Given the description of an element on the screen output the (x, y) to click on. 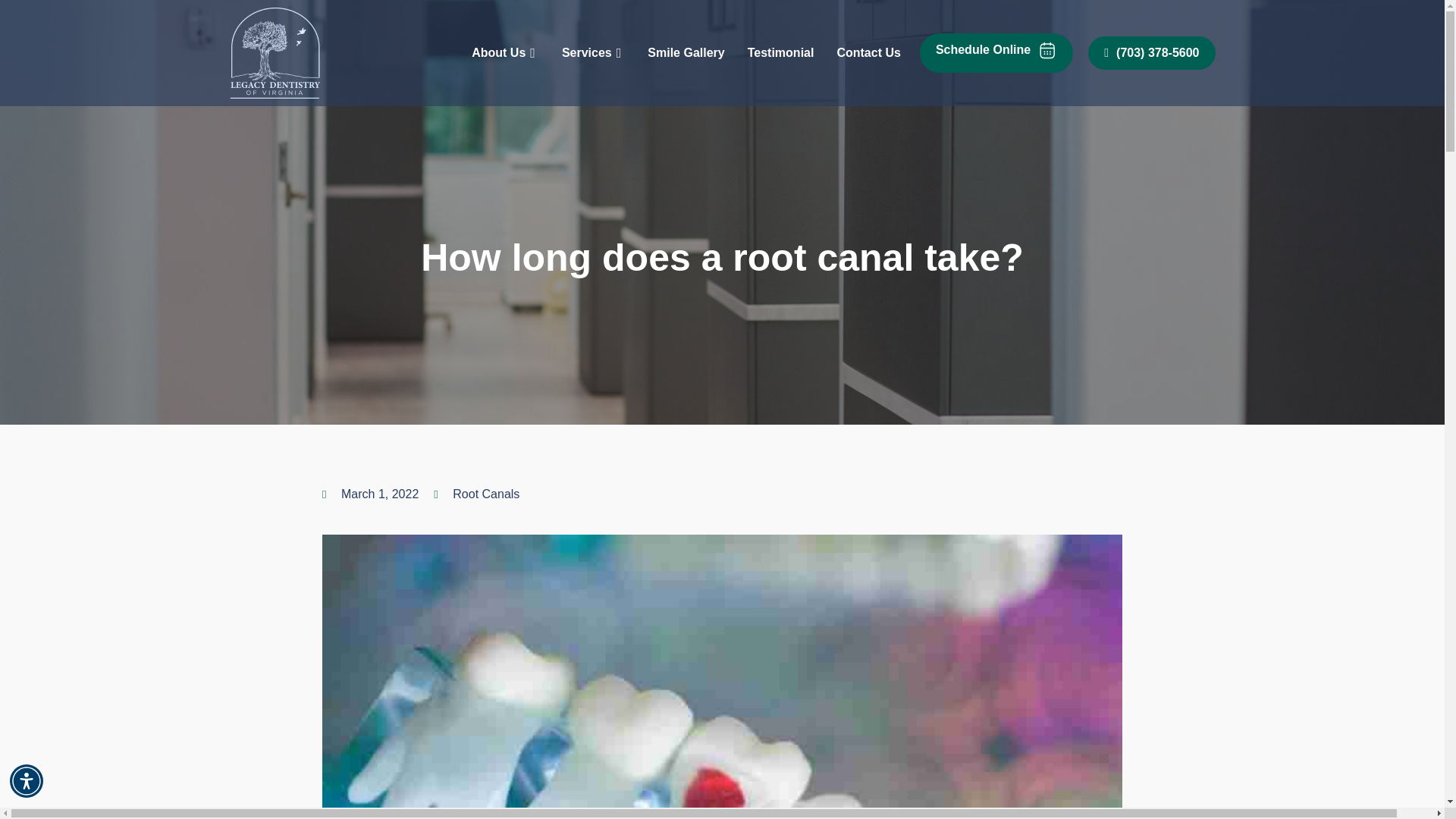
Services (593, 52)
About Us (505, 52)
Accessibility Menu (26, 780)
